Given the description of an element on the screen output the (x, y) to click on. 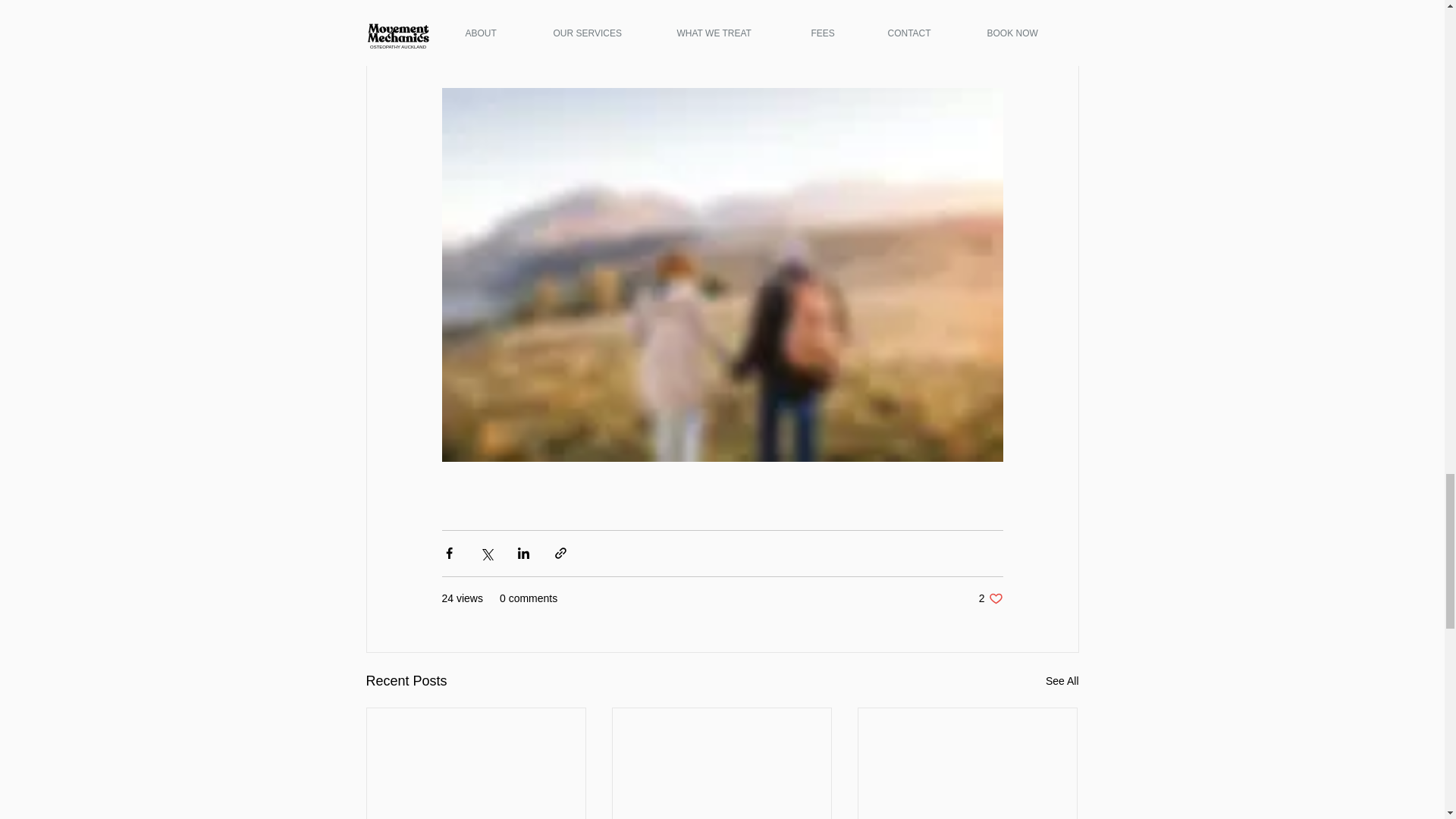
See All (990, 598)
